Given the description of an element on the screen output the (x, y) to click on. 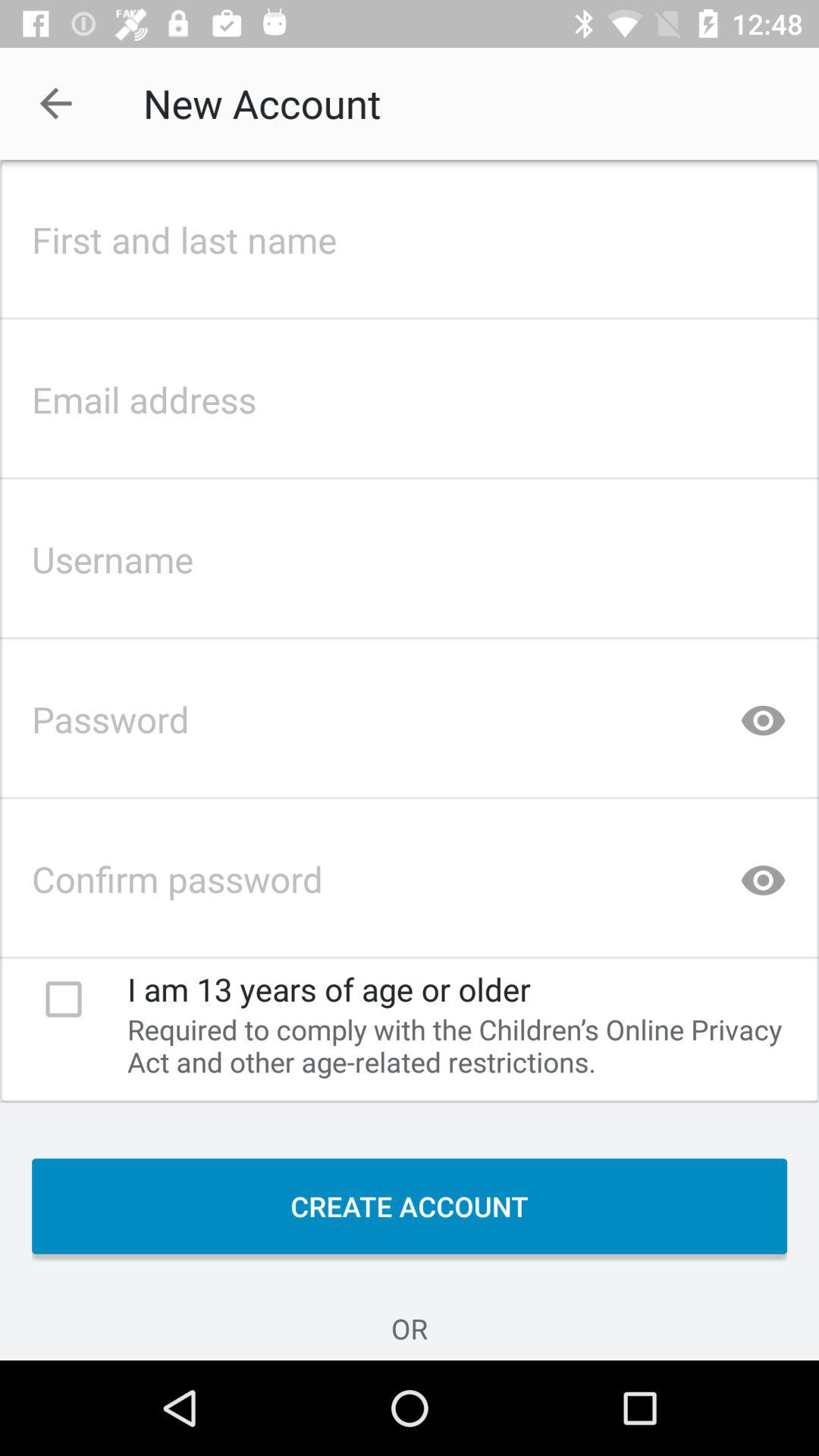
password confirmation field (409, 874)
